Given the description of an element on the screen output the (x, y) to click on. 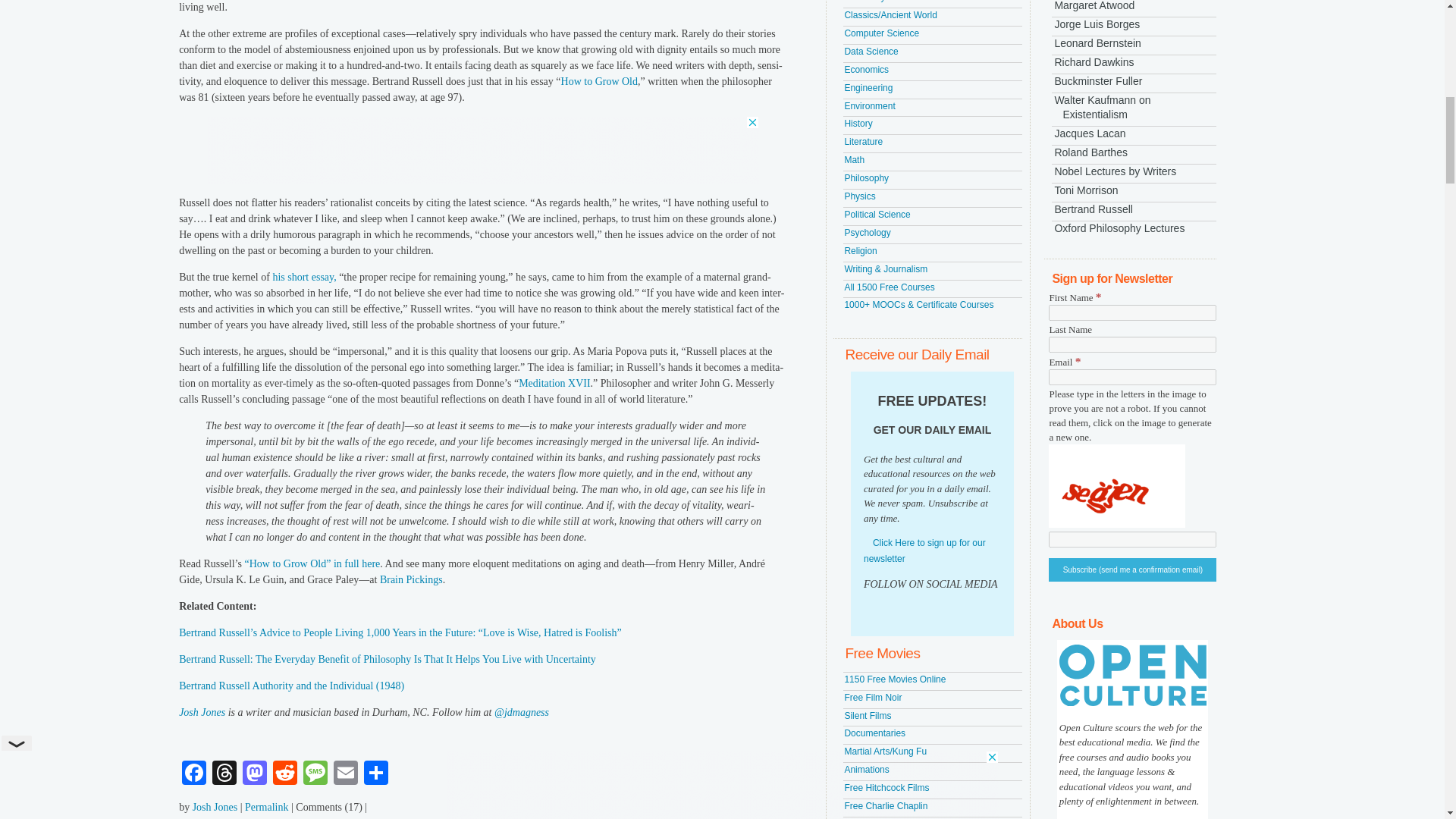
How to Grow Old (599, 81)
Facebook (194, 774)
Threads (224, 774)
Message (314, 774)
Mastodon (254, 774)
Josh Jones (202, 712)
his short essay, (304, 276)
Reddit (284, 774)
